Given the description of an element on the screen output the (x, y) to click on. 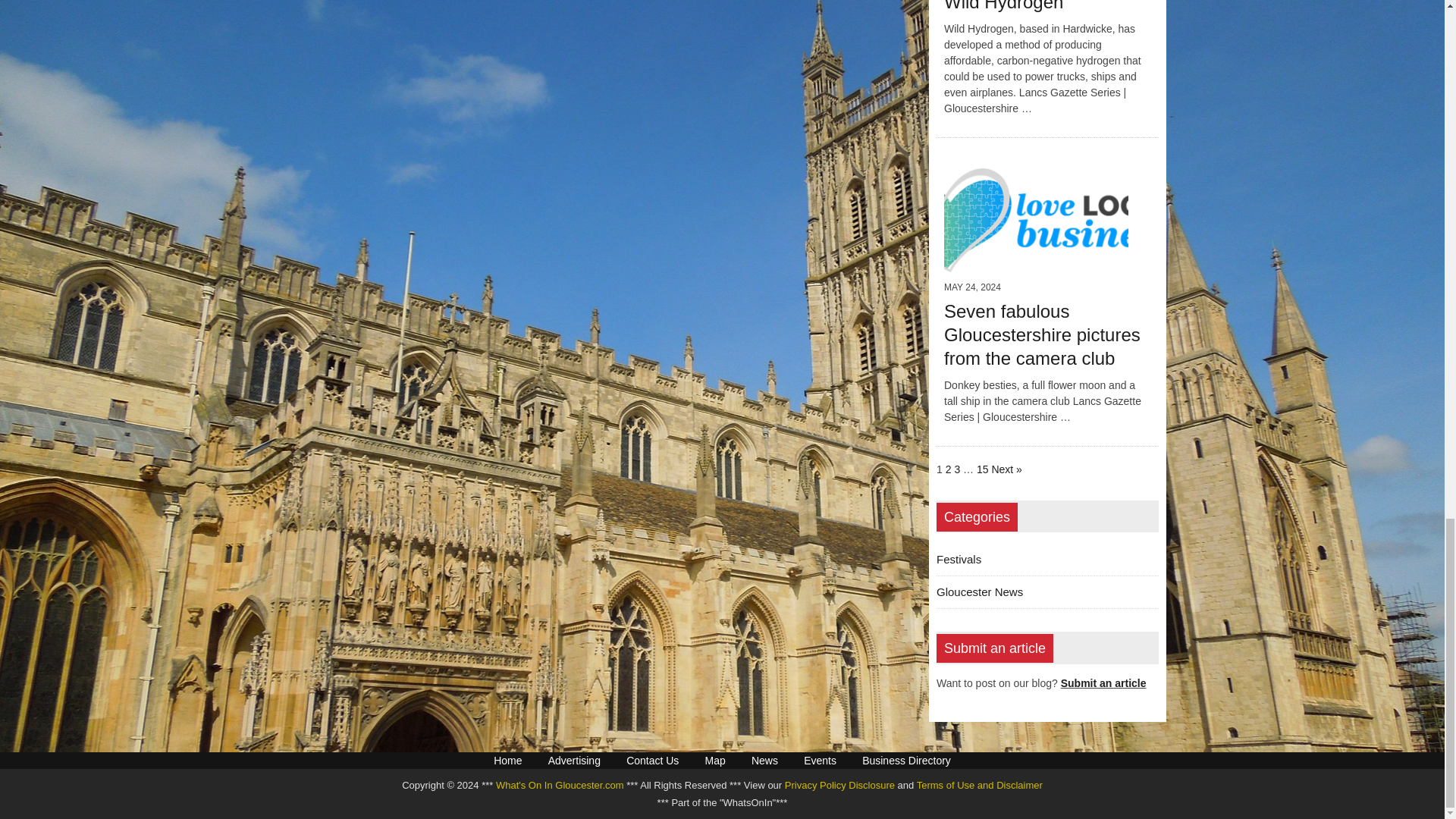
Gloucestershire firm captures the power of Wild Hydrogen (1031, 6)
Seven fabulous Gloucestershire pictures from the camera club (1035, 263)
Seven fabulous Gloucestershire pictures from the camera club (1041, 334)
